Given the description of an element on the screen output the (x, y) to click on. 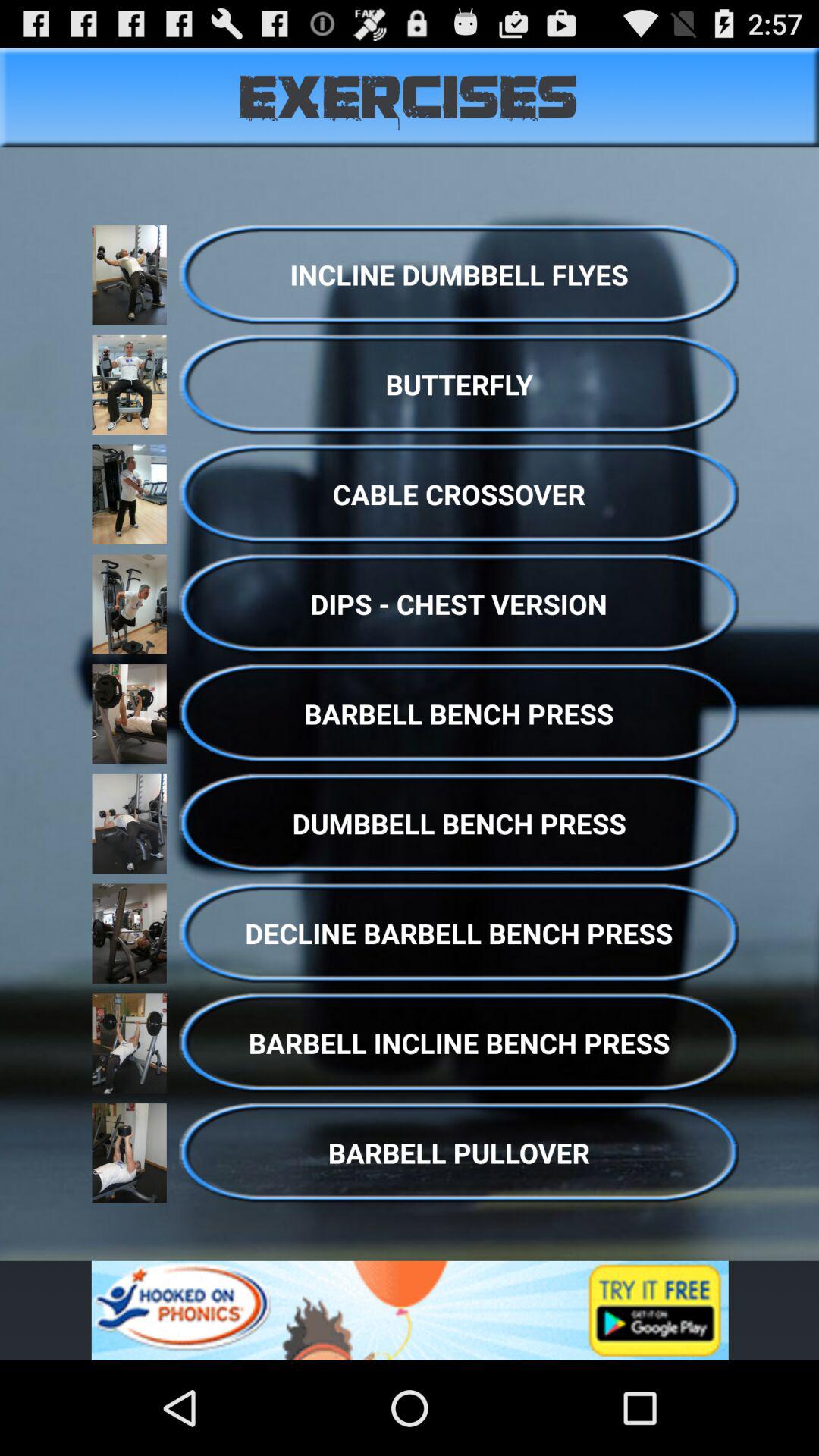
advertisement (409, 1310)
